Given the description of an element on the screen output the (x, y) to click on. 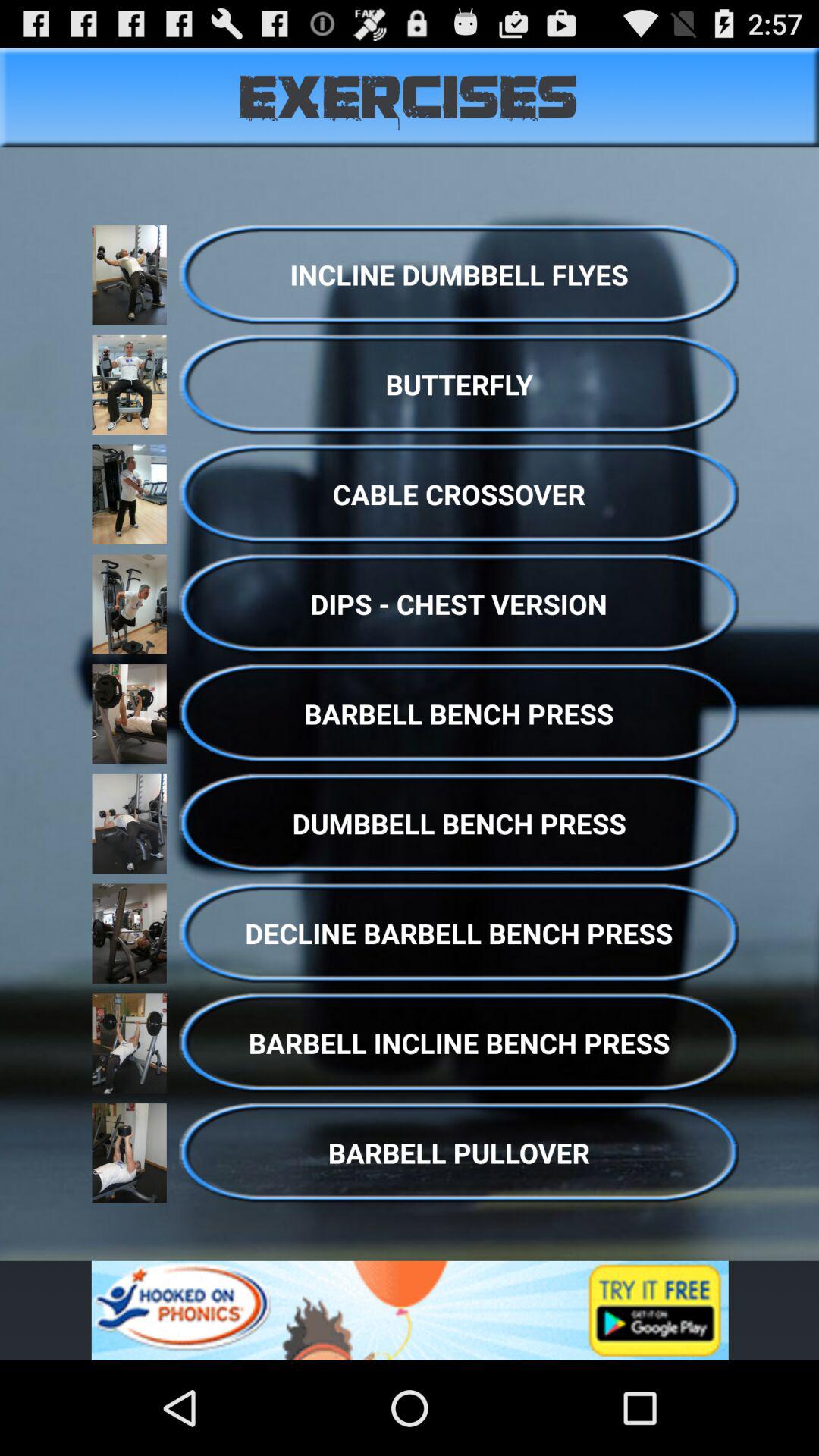
advertisement (409, 1310)
